Given the description of an element on the screen output the (x, y) to click on. 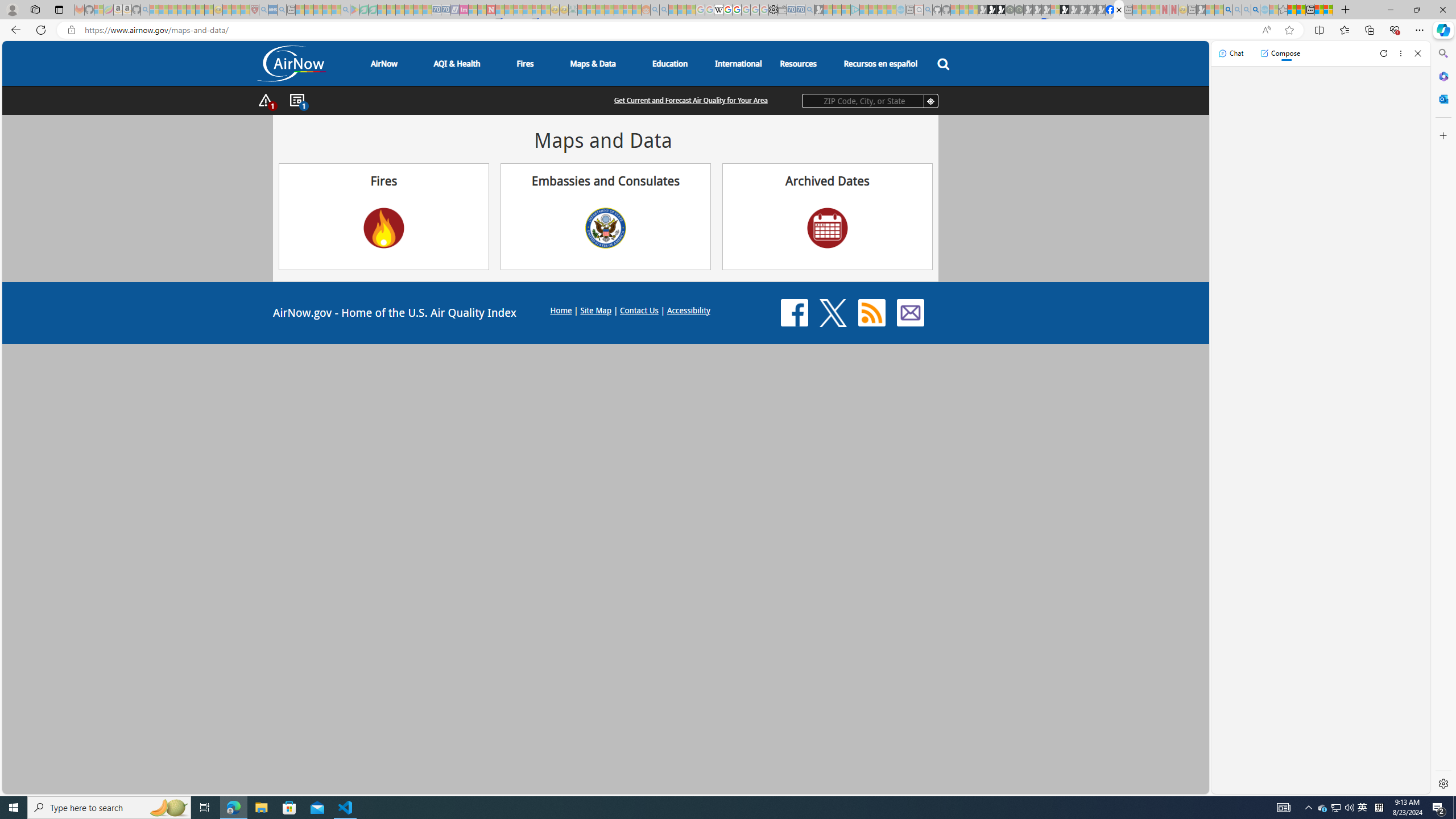
Sign in to your account - Sleeping (1054, 9)
Facebook (794, 312)
Get Current and Forecast Air Quality for Your Area (690, 99)
